Given the description of an element on the screen output the (x, y) to click on. 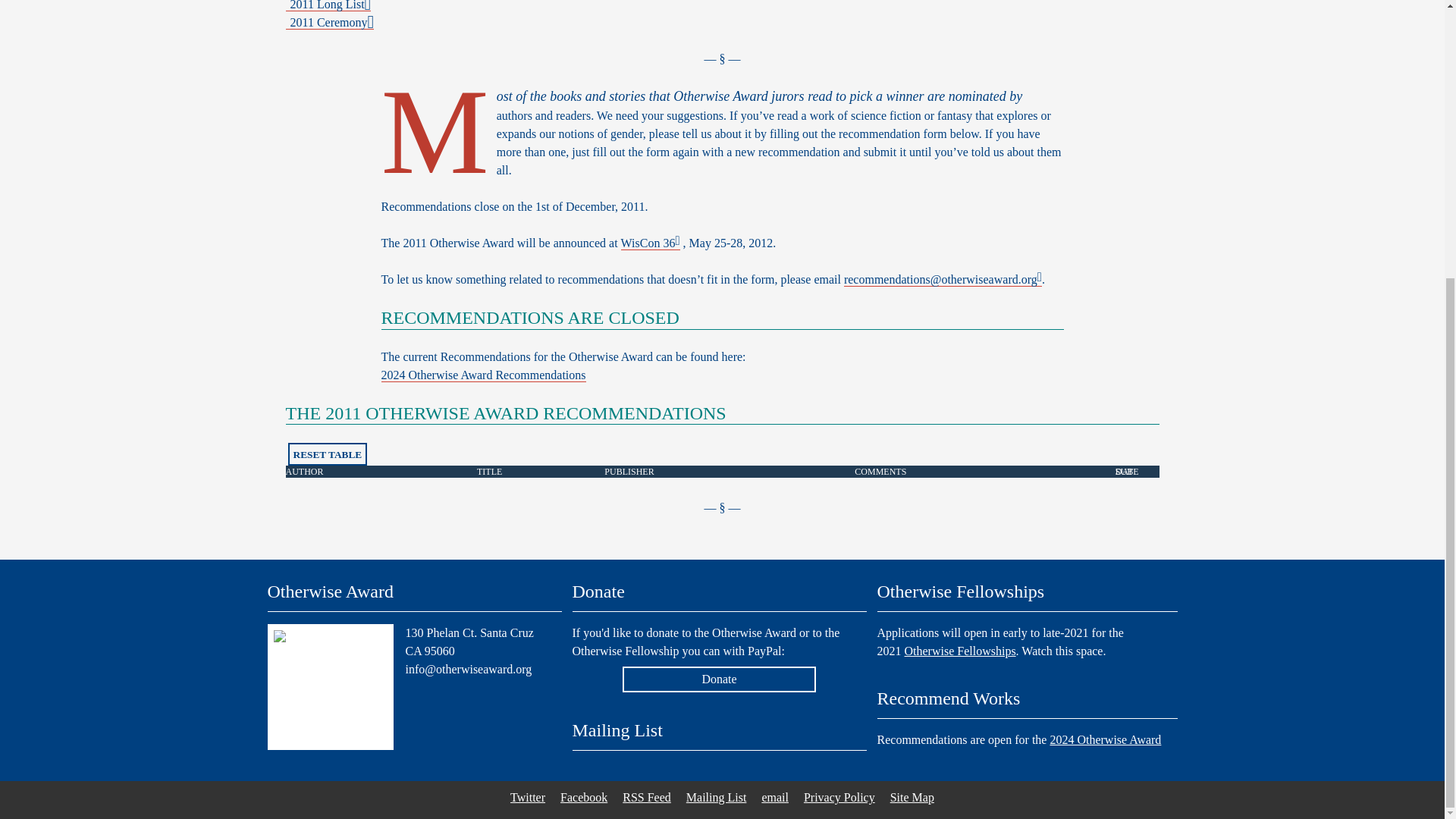
2011 Ceremony (329, 22)
2011 Long List (328, 5)
Donate (719, 679)
WisCon 36 (650, 243)
